Given the description of an element on the screen output the (x, y) to click on. 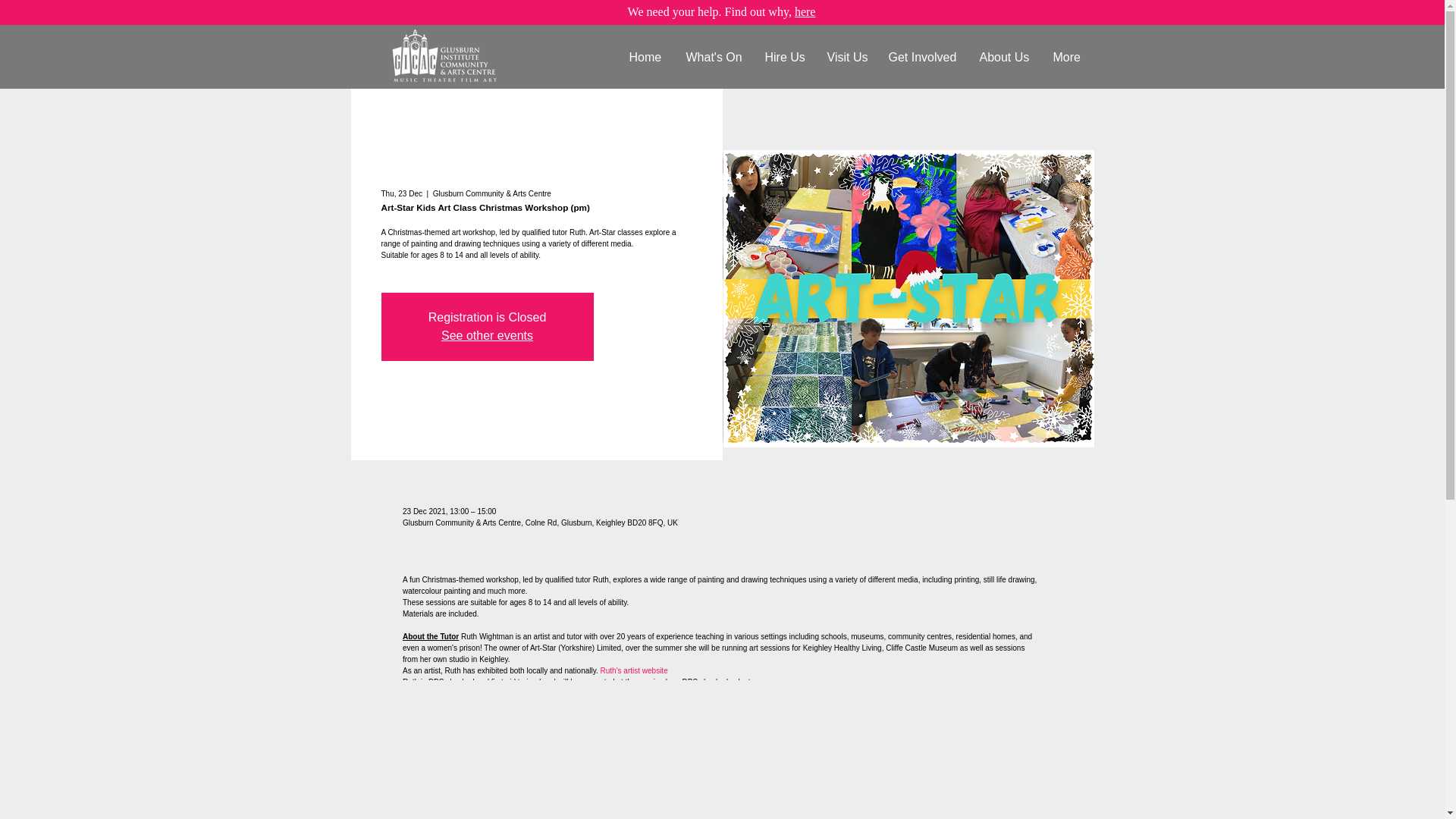
About Us (1004, 57)
See other events (486, 335)
Hire Us (784, 57)
Ruth's artist website (633, 670)
here (804, 11)
Visit Us (846, 57)
Get Involved (922, 57)
Home (645, 57)
What's On (714, 57)
